Given the description of an element on the screen output the (x, y) to click on. 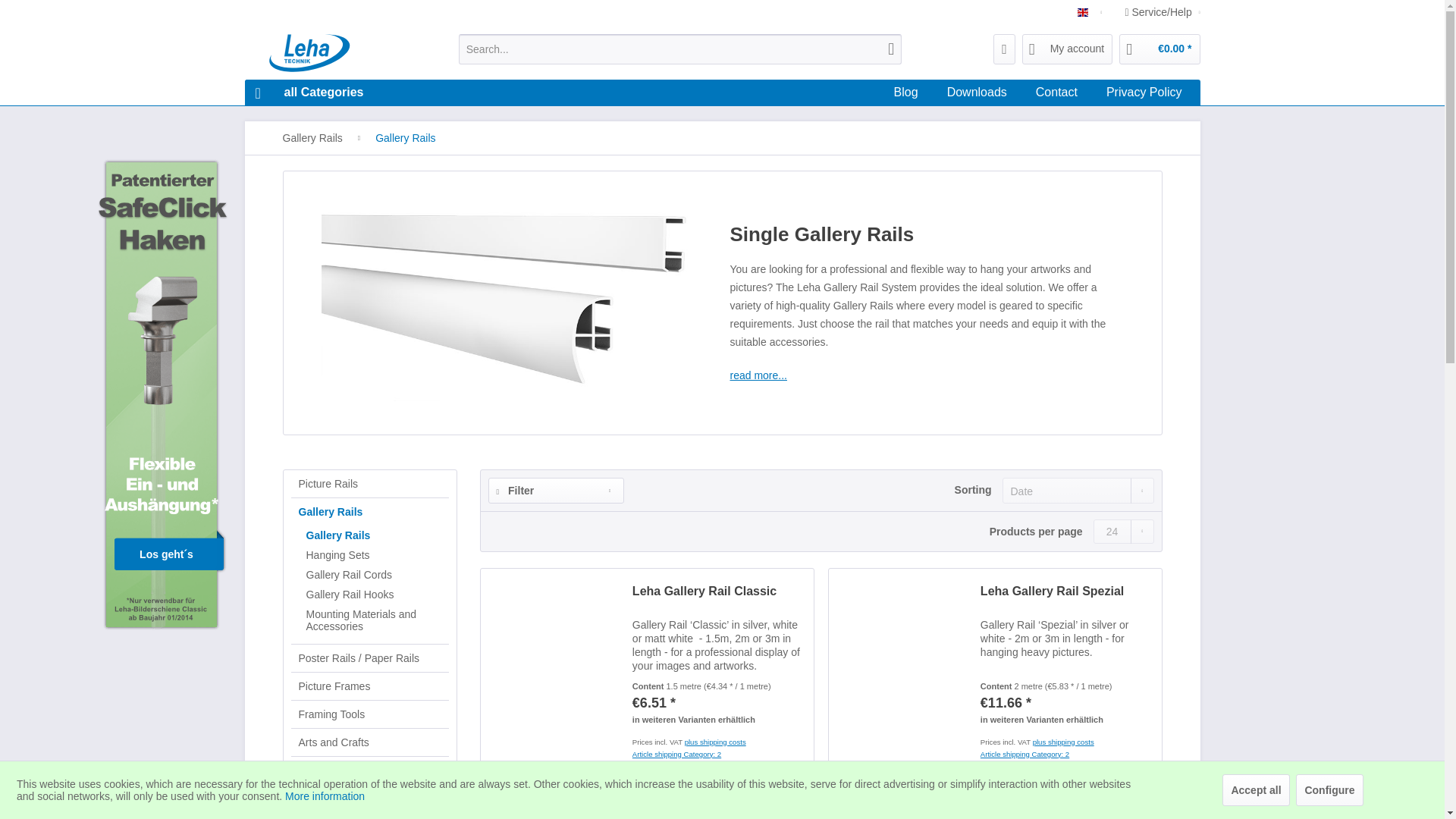
My account (1067, 49)
Contact (1056, 92)
Downloads (721, 92)
Downloads (721, 92)
Privacy Policy (976, 92)
Privacy Policy (976, 92)
Blog (1144, 92)
Downloads (1144, 92)
all Categories (905, 92)
all Categories (976, 92)
Leha Webshop - Switch to homepage (309, 92)
Privacy Policy (309, 92)
Shopping cart (326, 53)
